Given the description of an element on the screen output the (x, y) to click on. 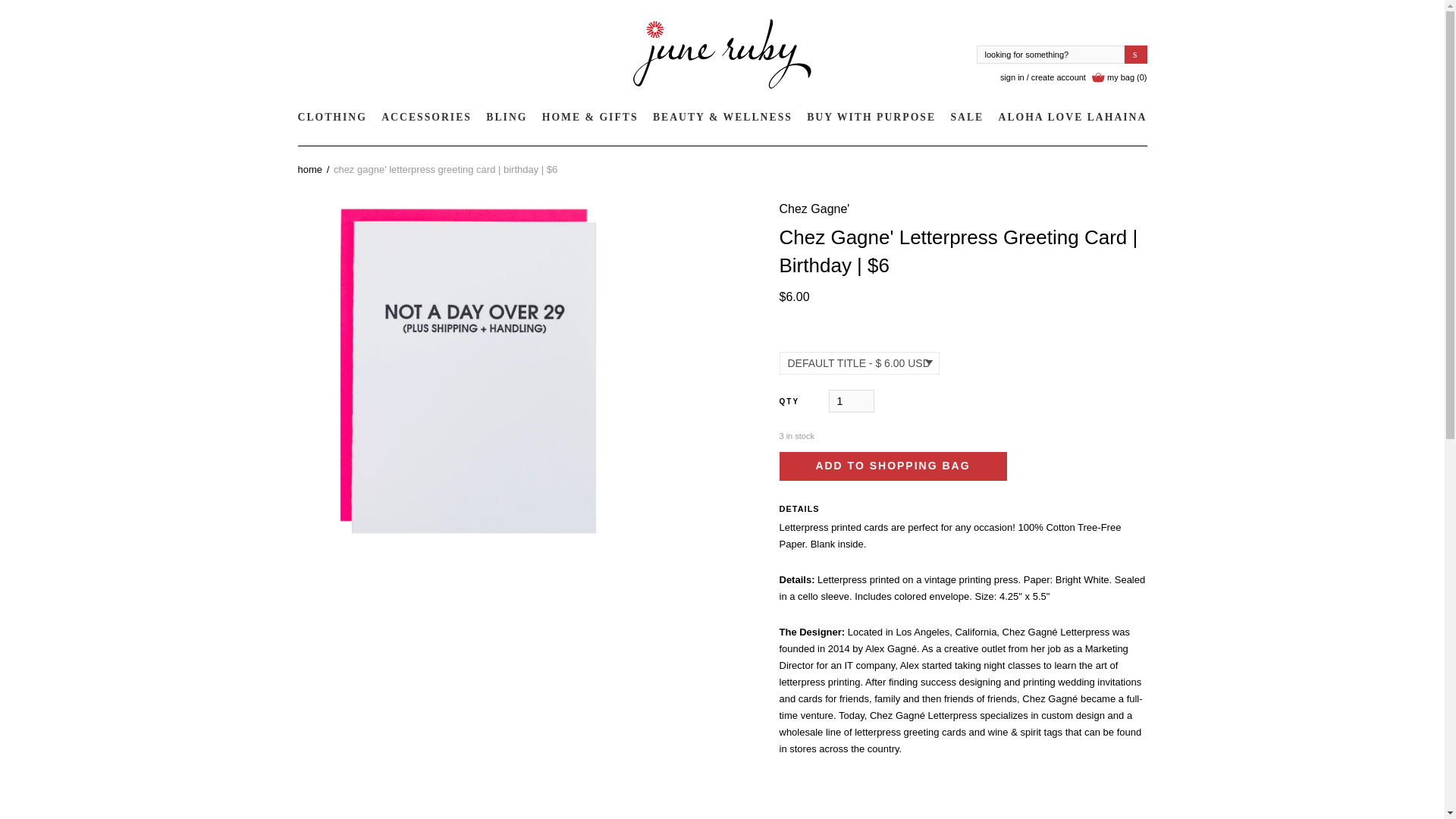
Back to the frontpage (310, 169)
1 (850, 400)
